Given the description of an element on the screen output the (x, y) to click on. 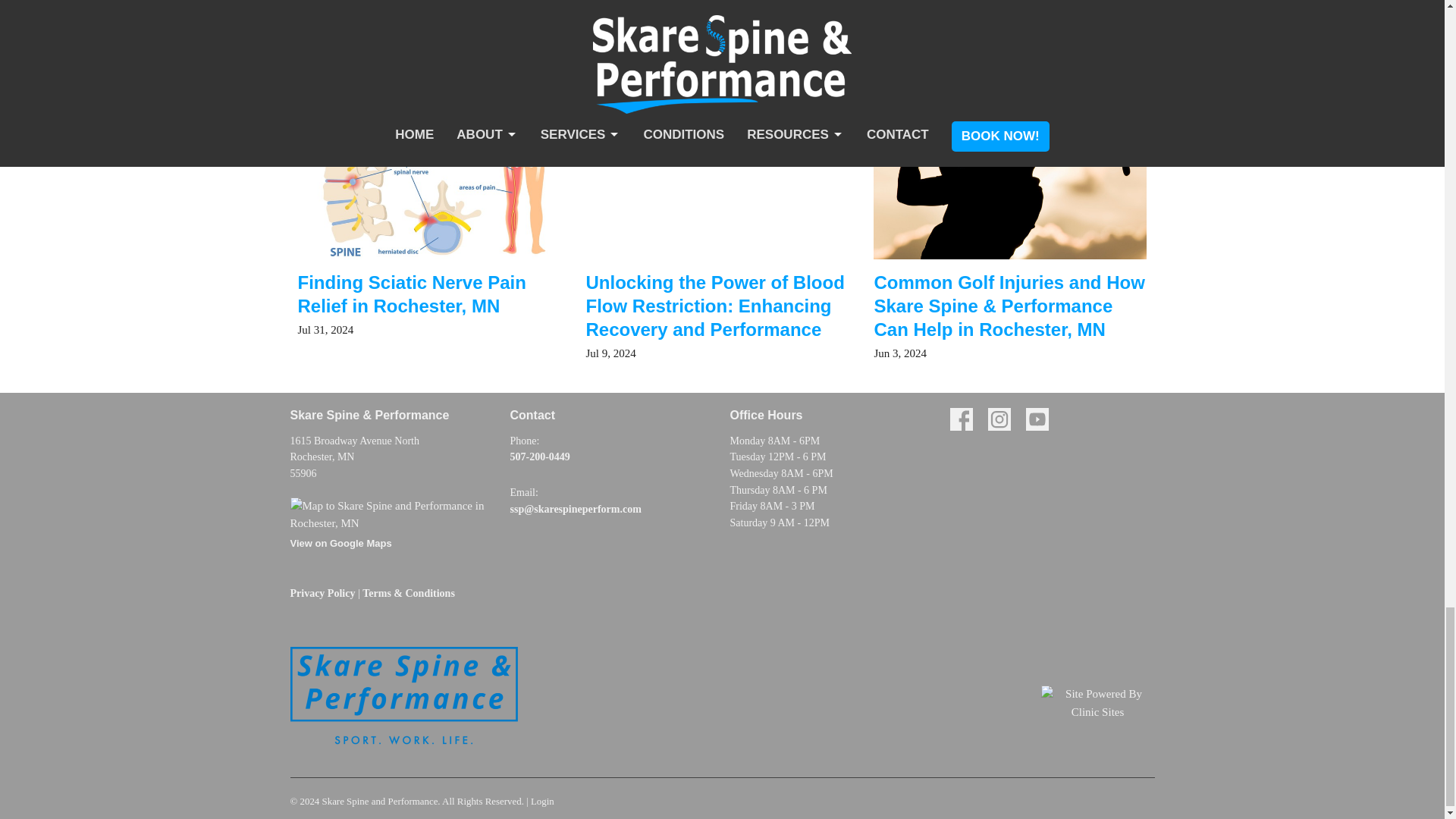
507-200-0449 (539, 456)
View on Google Maps (392, 526)
